Given the description of an element on the screen output the (x, y) to click on. 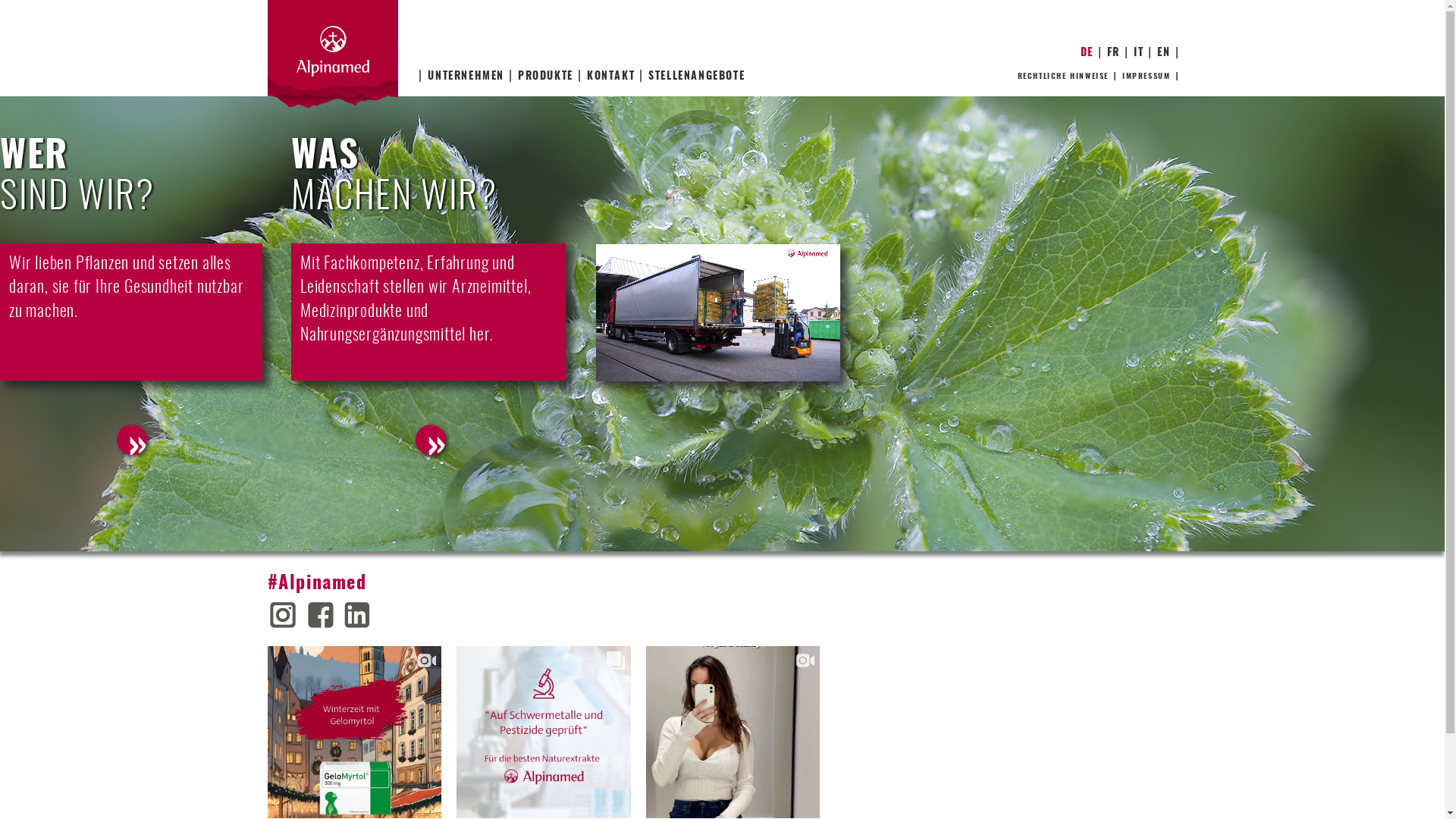
IT Element type: text (1138, 52)
DE Element type: text (1086, 52)
KONTAKT Element type: text (609, 75)
RECHTLICHE HINWEISE Element type: text (1062, 76)
UNTERNEHMEN Element type: text (464, 75)
IMPRESSUM Element type: text (1145, 76)
PRODUKTE Element type: text (543, 75)
FR Element type: text (1113, 52)
STELLENANGEBOTE Element type: text (694, 75)
EN Element type: text (1163, 52)
